Given the description of an element on the screen output the (x, y) to click on. 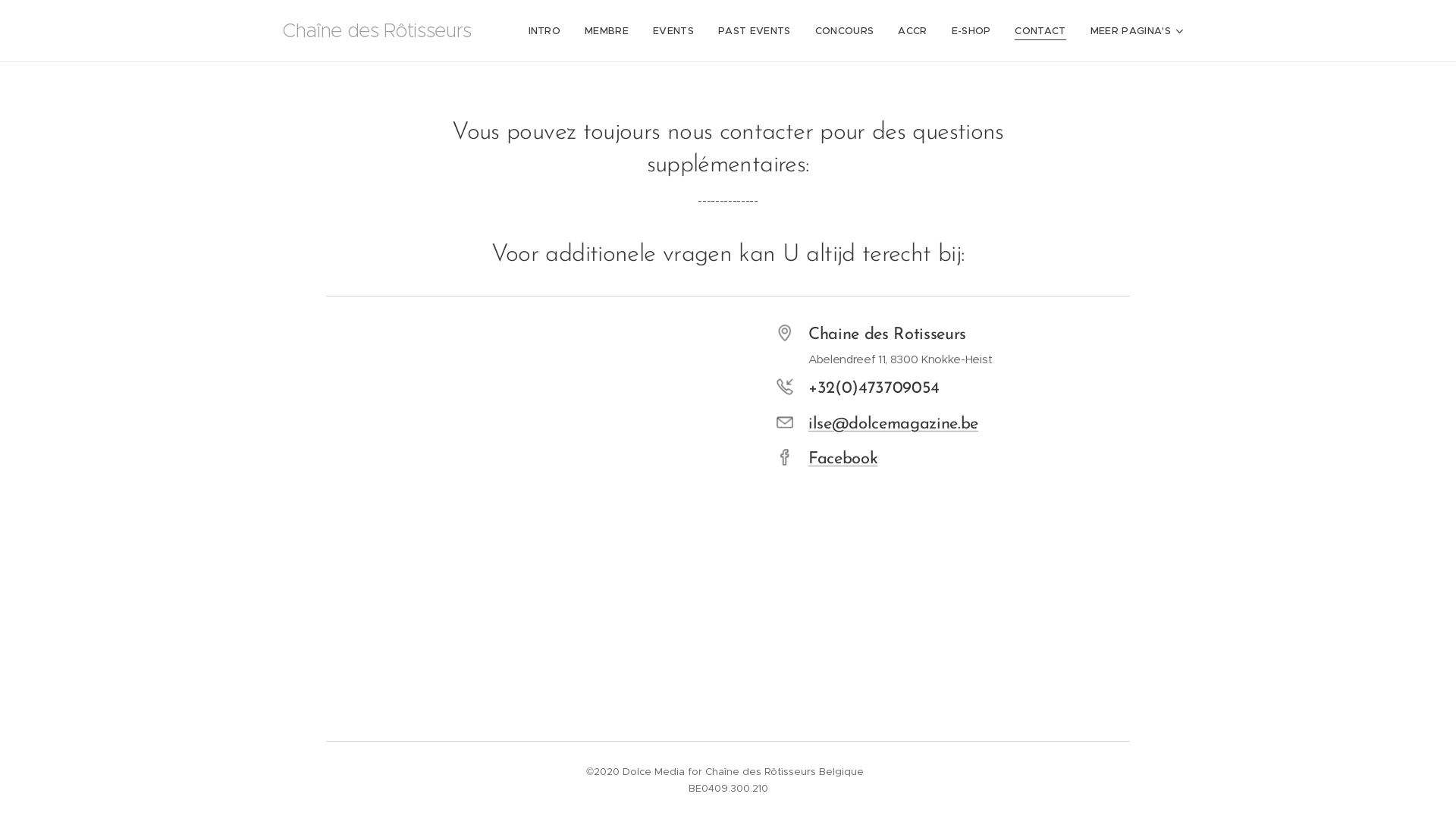
ACCR Element type: text (911, 31)
INTRO Element type: text (548, 31)
E-SHOP Element type: text (971, 31)
CONTACT Element type: text (1039, 31)
MEMBRE Element type: text (606, 31)
PAST EVENTS Element type: text (754, 31)
Facebook Element type: text (842, 458)
CONCOURS Element type: text (844, 31)
EVENTS Element type: text (673, 31)
MEER PAGINA'S Element type: text (1130, 31)
ilse@dolcemagazine.be Element type: text (893, 424)
